Given the description of an element on the screen output the (x, y) to click on. 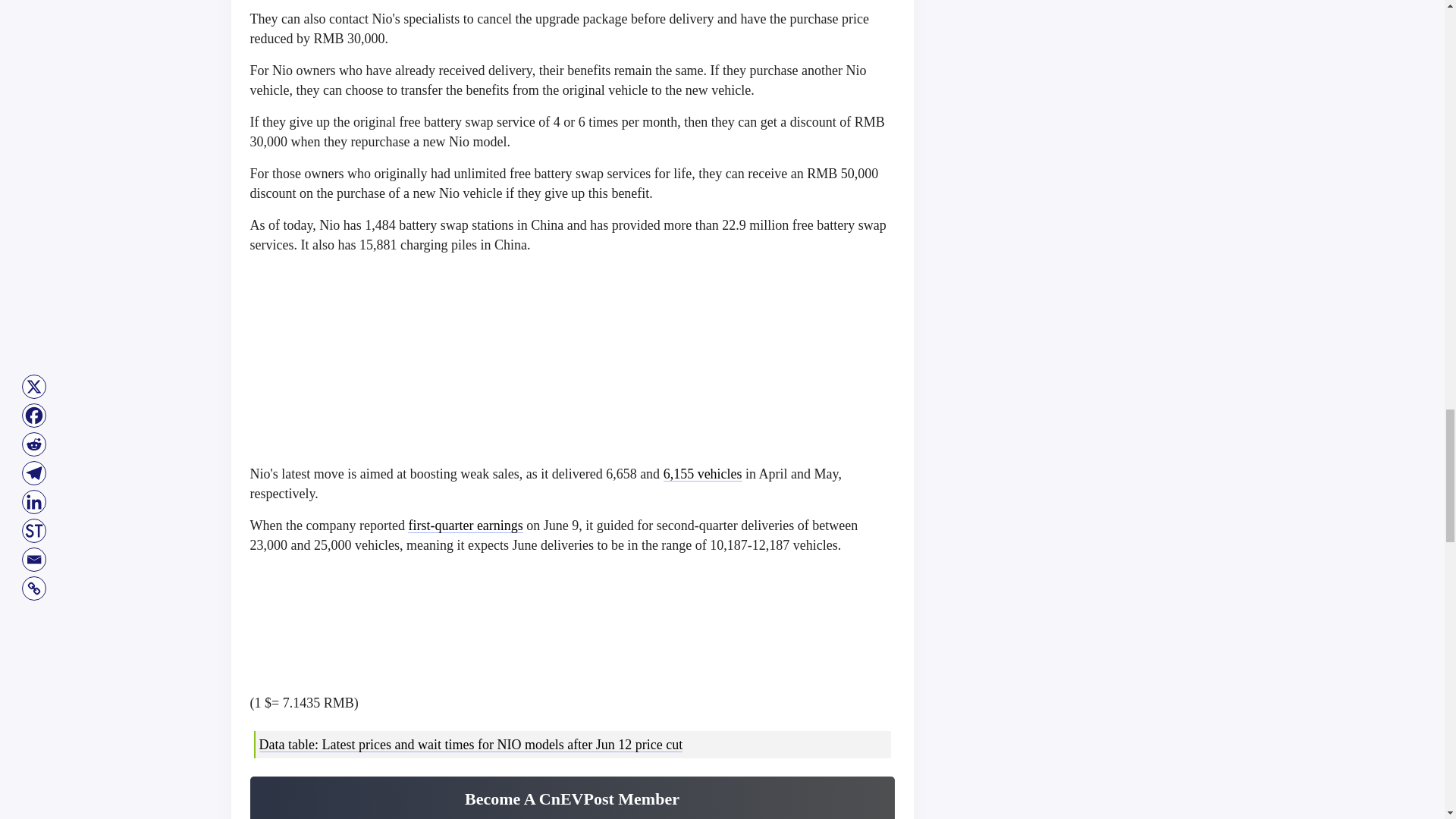
first-quarter earnings (464, 525)
6,155 vehicles (702, 473)
